Given the description of an element on the screen output the (x, y) to click on. 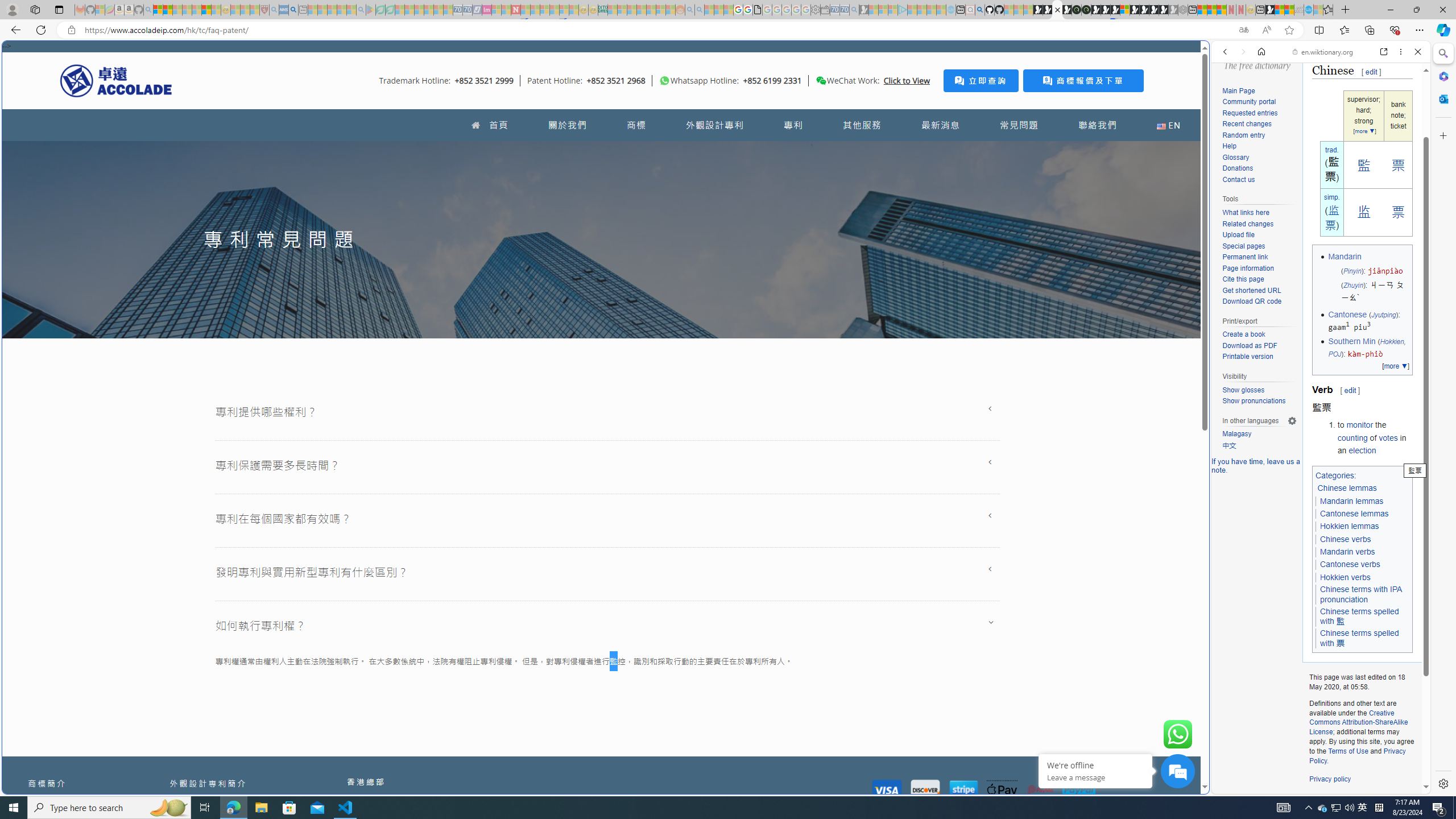
Related changes (1247, 223)
Earth has six continents not seven, radical new study claims (1288, 9)
votes (1387, 437)
Create a book (1259, 334)
Settings - Sleeping (815, 9)
